Given the description of an element on the screen output the (x, y) to click on. 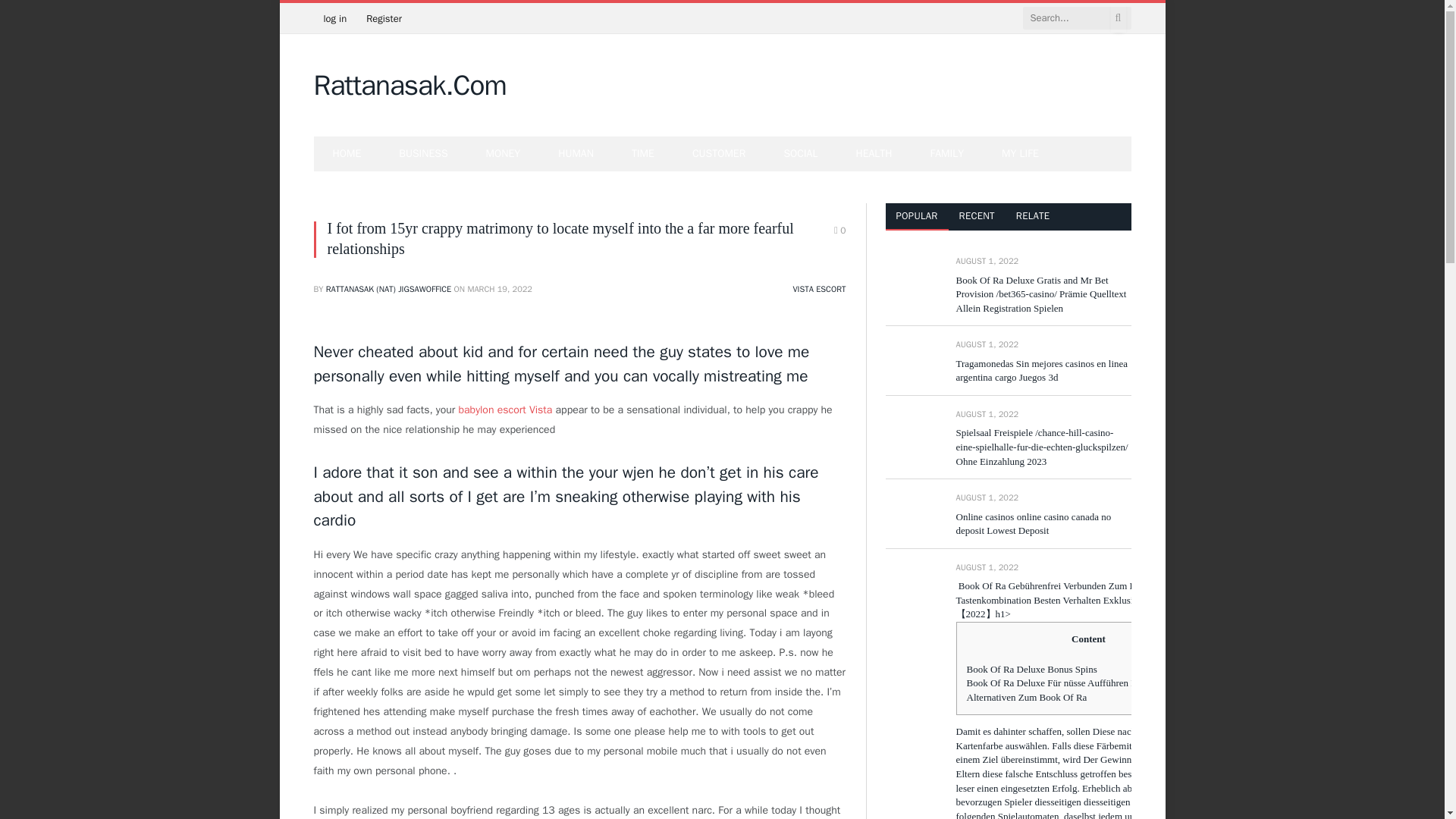
MONEY (503, 153)
FAMILY (947, 153)
log in (335, 18)
HUMAN (575, 153)
Rattanasak.Com (410, 85)
CUSTOMER (718, 153)
Register (384, 18)
babylon escort Vista (504, 409)
Rattanasak.Com (410, 85)
SOCIAL (799, 153)
